Given the description of an element on the screen output the (x, y) to click on. 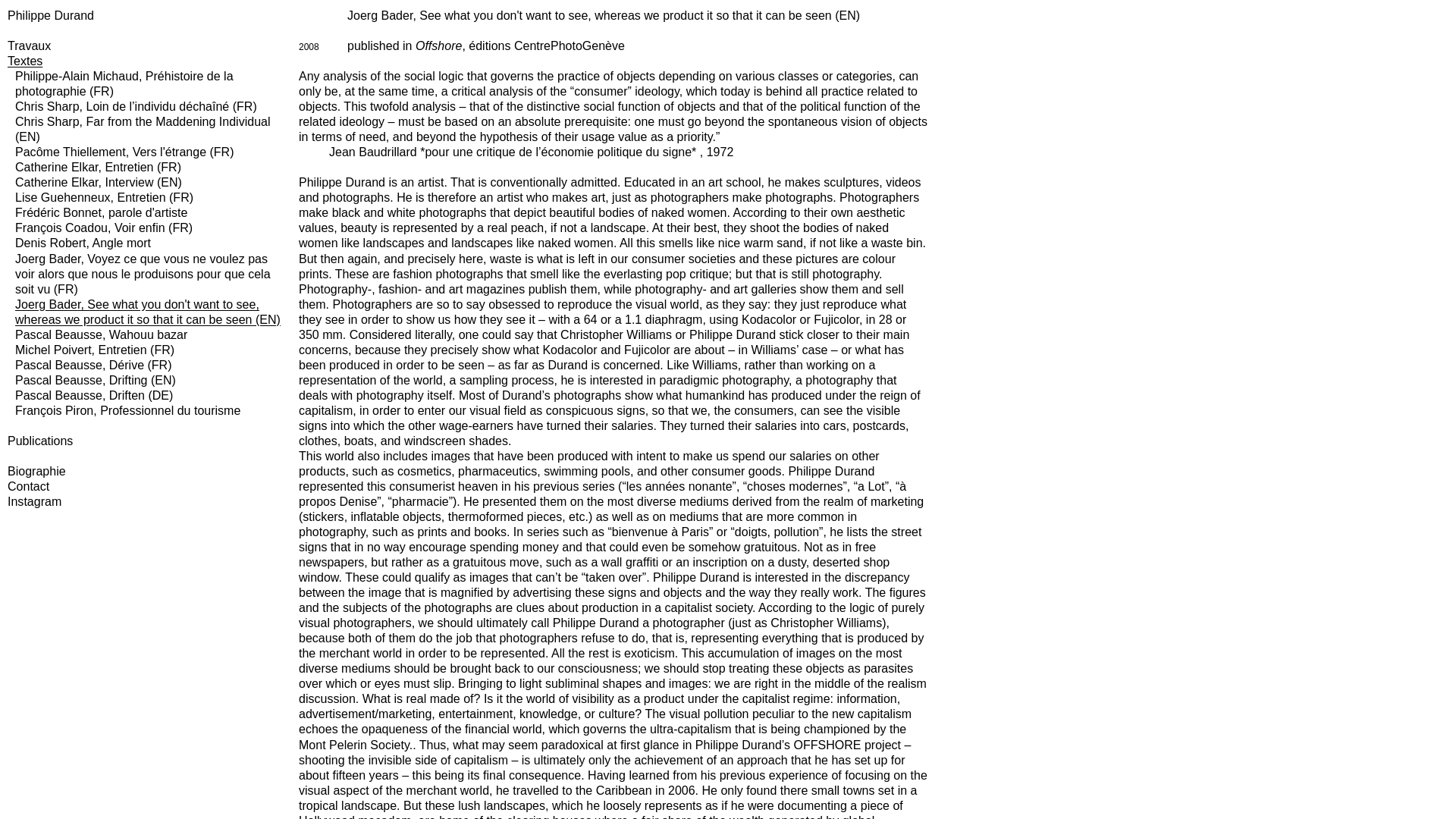
Philippe Durand (50, 15)
